Given the description of an element on the screen output the (x, y) to click on. 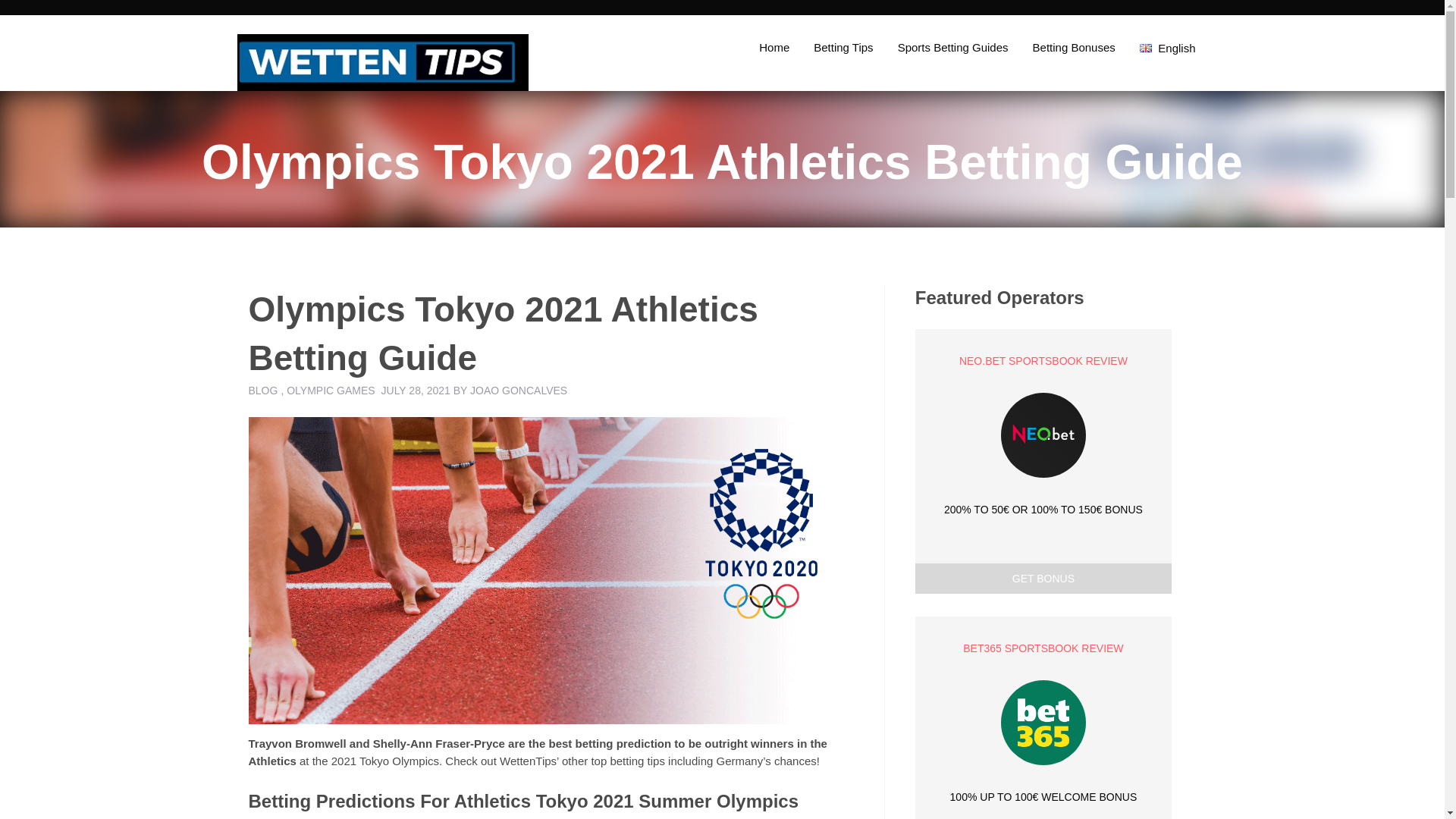
Betting Tips (843, 46)
NEO.BET SPORTSBOOK REVIEW (1043, 361)
Betting Bonuses (1073, 46)
BLOG (263, 390)
Sports Betting Guides (952, 46)
English (1167, 46)
OLYMPIC GAMES (330, 390)
Home (774, 46)
GET BONUS (1043, 578)
BET365 SPORTSBOOK REVIEW (1043, 648)
